Given the description of an element on the screen output the (x, y) to click on. 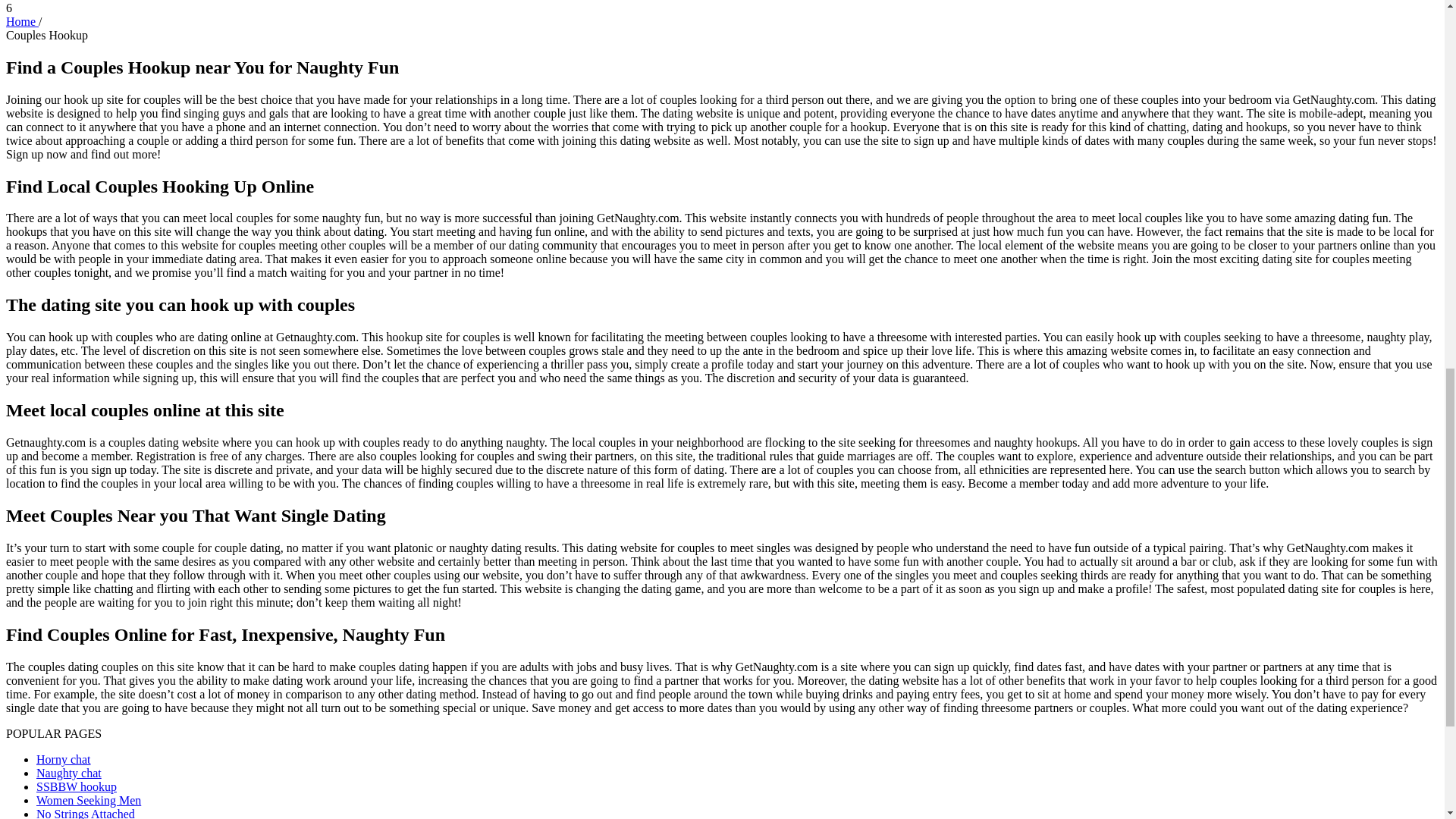
No Strings Attached (85, 813)
SSBBW hookup (76, 786)
Horny chat (63, 758)
Horny chat (63, 758)
Women Seeking Men (88, 799)
SSBBW hookup (76, 786)
Naughty chat (68, 772)
Naughty chat (68, 772)
Home (22, 21)
Women Seeking Men (88, 799)
